Given the description of an element on the screen output the (x, y) to click on. 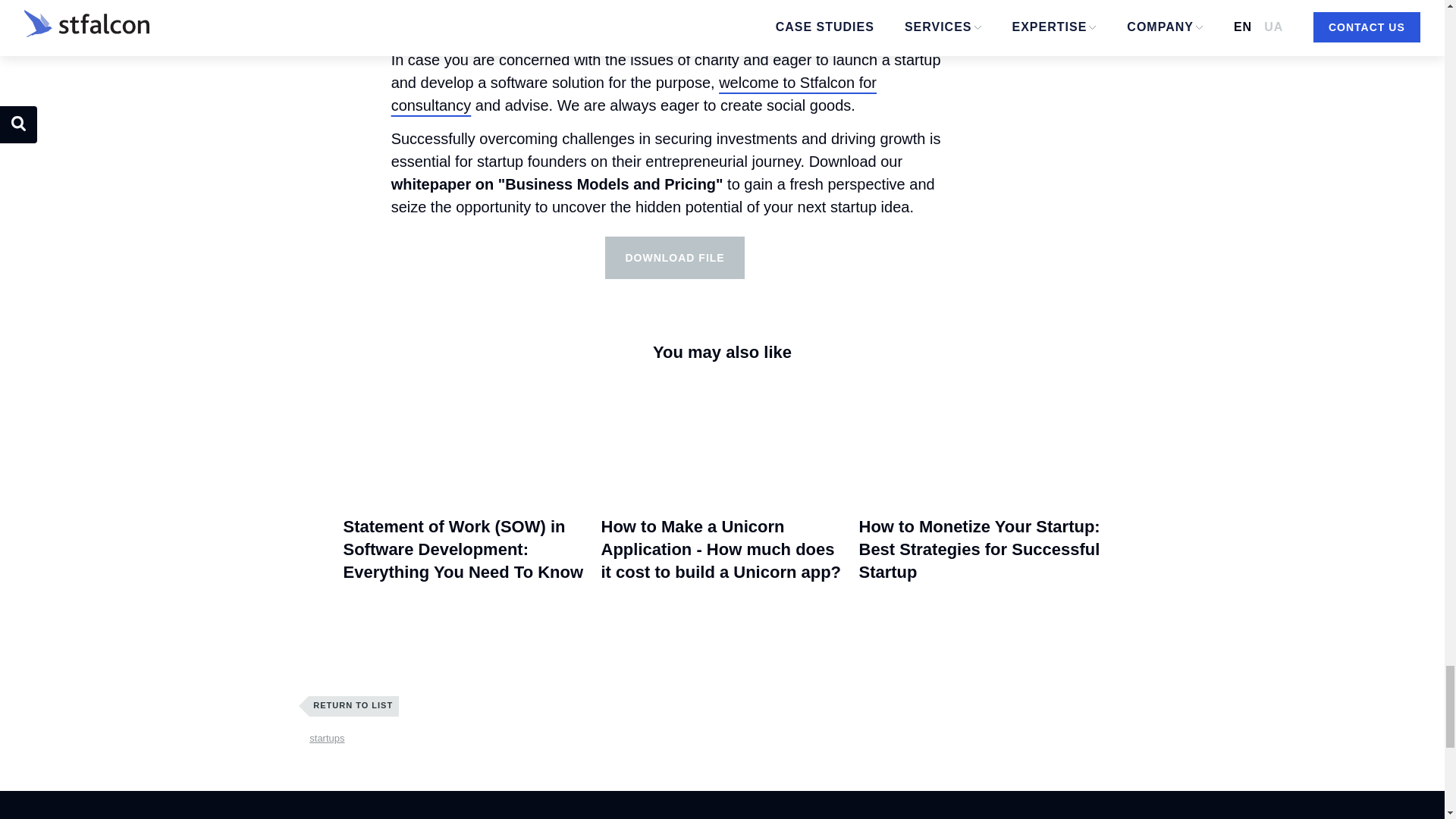
DOWNLOAD FILE (674, 257)
welcome to Stfalcon for consultancy (633, 93)
